Given the description of an element on the screen output the (x, y) to click on. 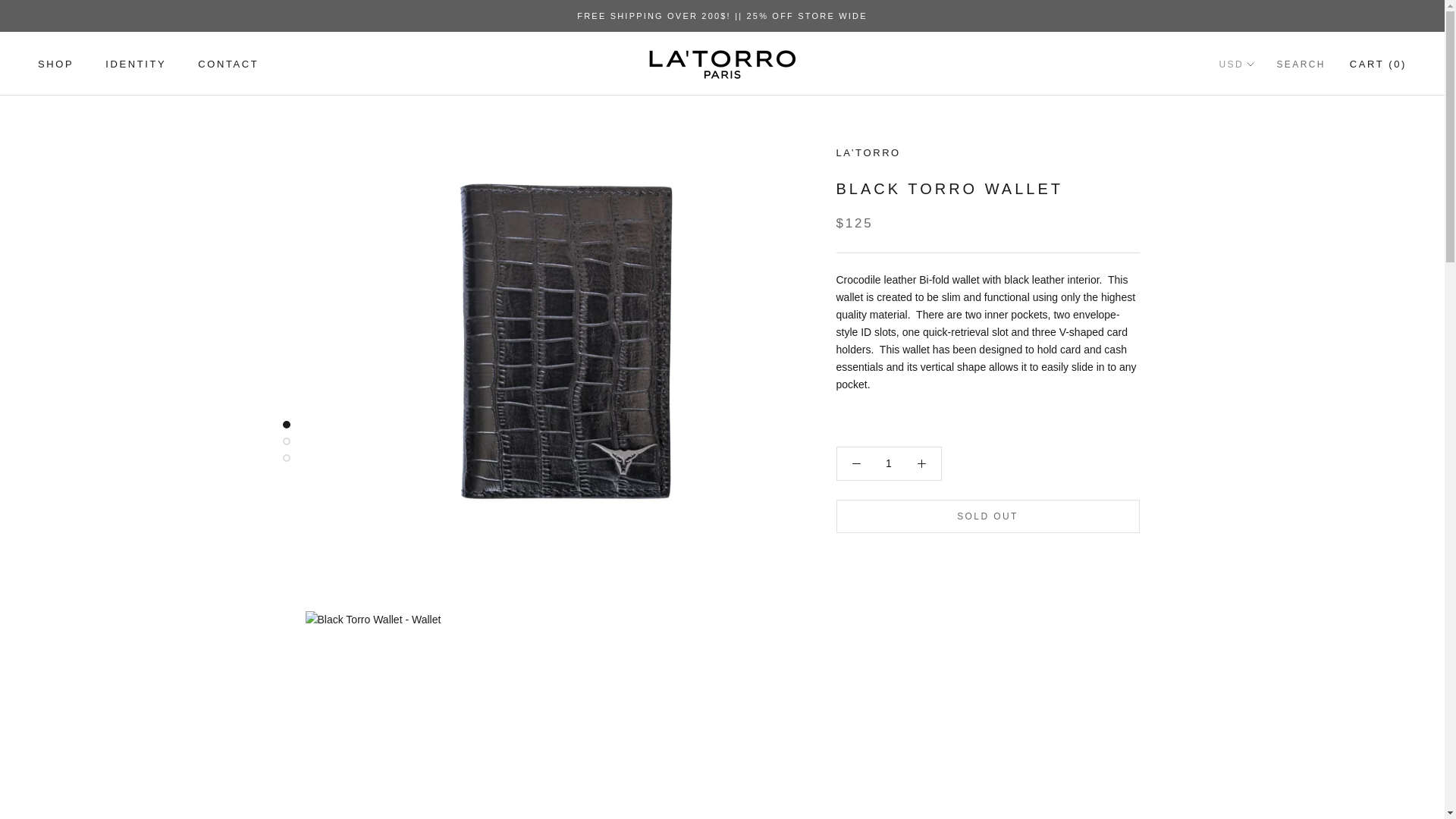
SEARCH (1300, 64)
SHOP (228, 63)
SOLD OUT (55, 63)
1 (134, 63)
